Given the description of an element on the screen output the (x, y) to click on. 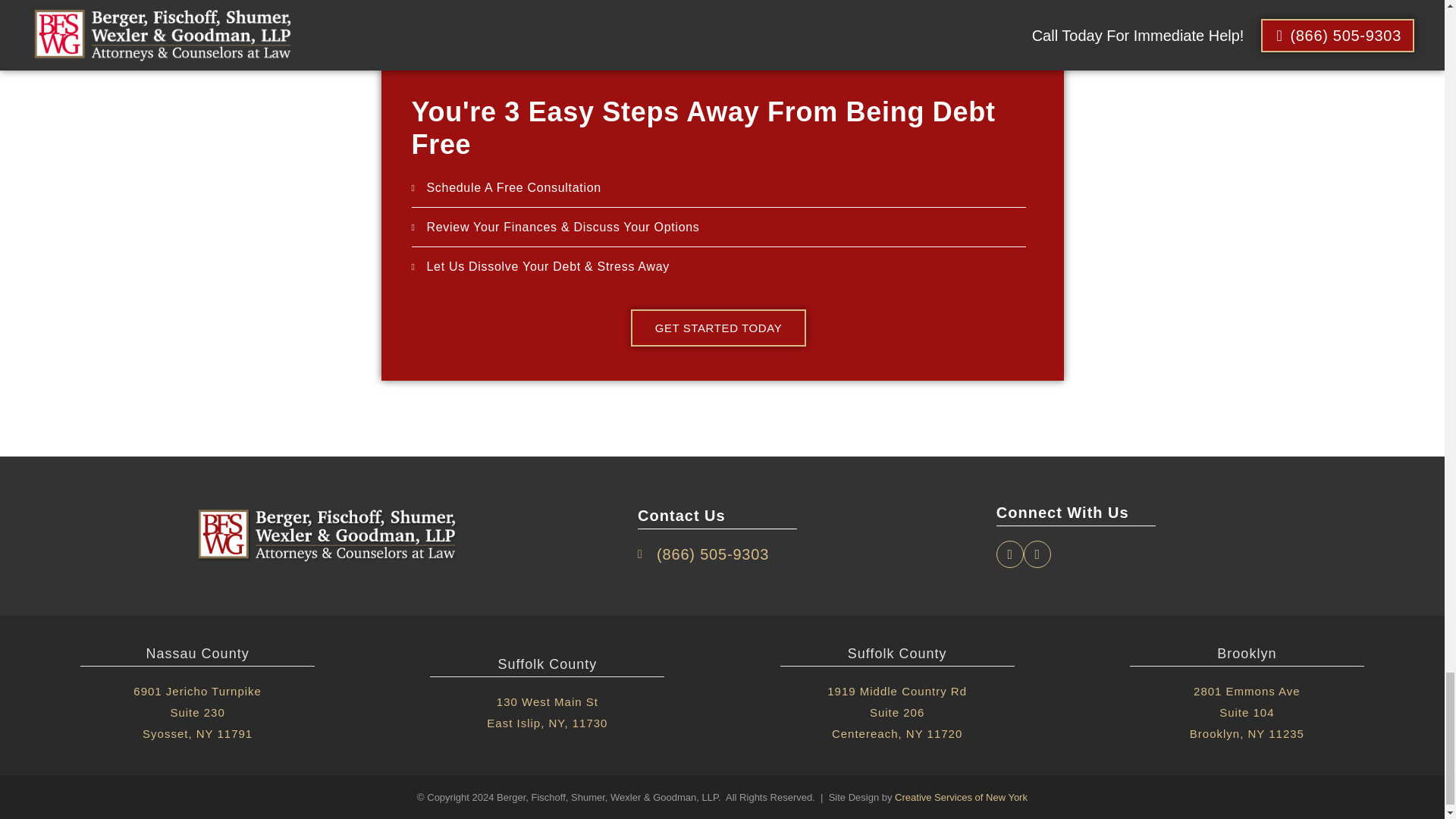
GET STARTED TODAY (718, 327)
